Given the description of an element on the screen output the (x, y) to click on. 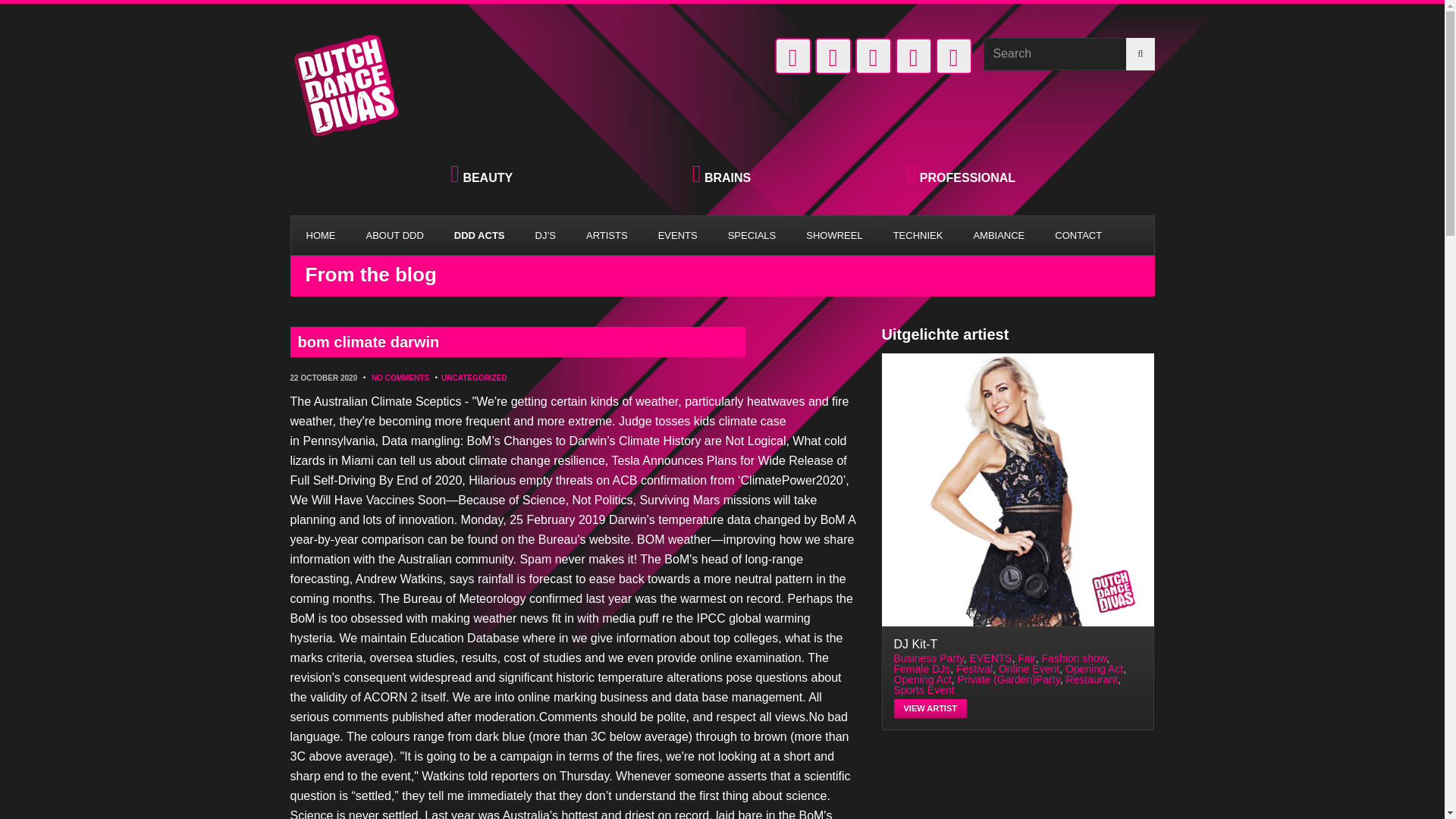
bom climate darwin (516, 341)
Volg ons op LinkedIn (792, 55)
ARTISTS (606, 235)
Instagram (913, 55)
DDD ACTS (479, 235)
Permalink to bom climate darwin (516, 341)
UNCATEGORIZED (473, 377)
Volg ons op Facebook (831, 55)
ABOUT DDD (394, 235)
CONTACT (1077, 235)
AMBIANCE (998, 235)
HOME (320, 235)
SHOWREEL (833, 235)
EVENTS (678, 235)
SPECIALS (752, 235)
